Given the description of an element on the screen output the (x, y) to click on. 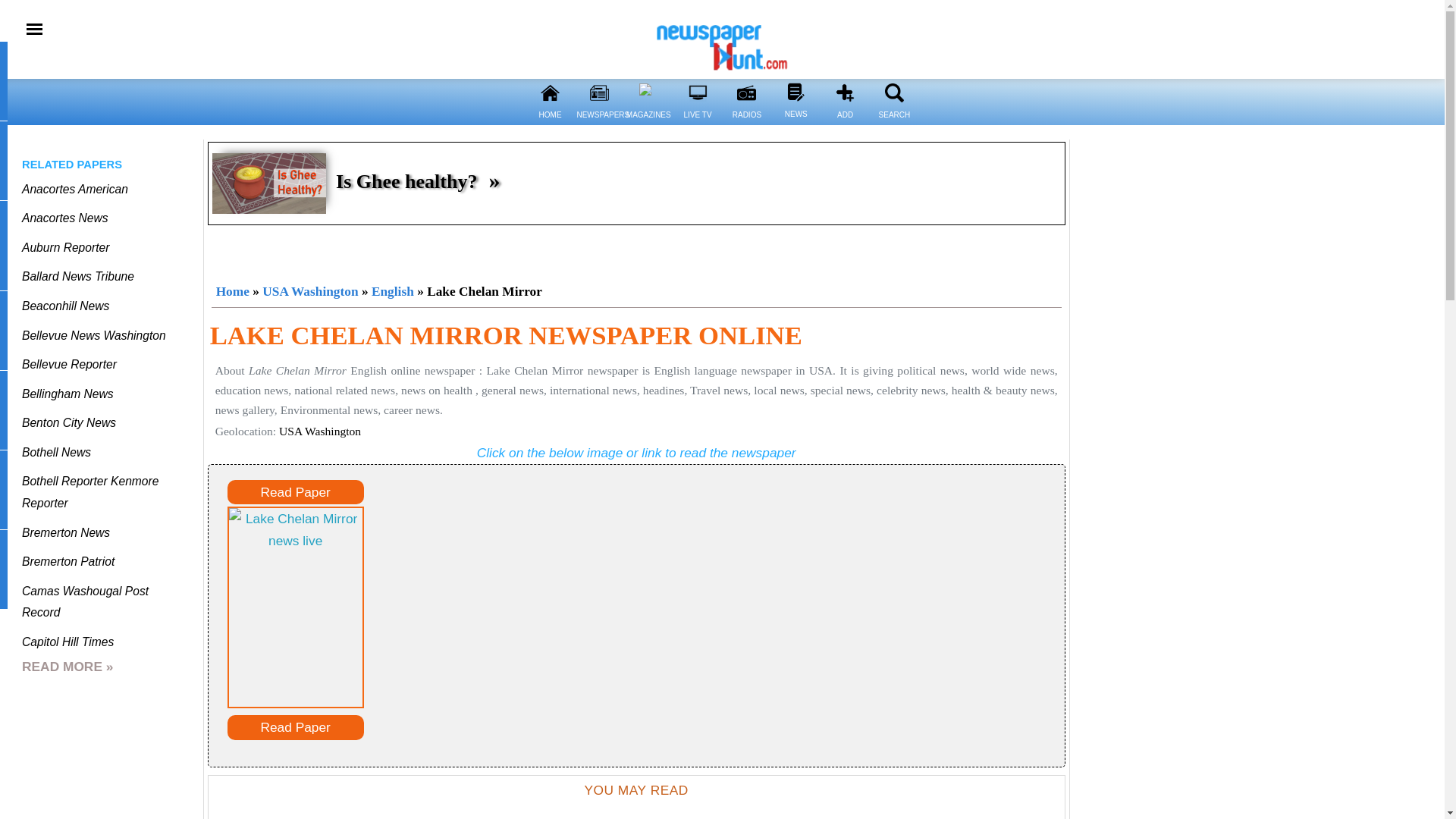
HOME (549, 92)
Bremerton News (65, 532)
Anacortes News (64, 217)
Bellevue Reporter (68, 364)
SEARCH (893, 124)
MAGAZINE (648, 92)
HOME (550, 124)
NEWS (795, 123)
RADIOS (746, 124)
Bellingham News (67, 393)
LIVE TV (697, 92)
Benton City News (68, 422)
Bellevue News Washington (93, 335)
Bothell News (55, 451)
Bothell Reporter Kenmore Reporter (89, 492)
